Given the description of an element on the screen output the (x, y) to click on. 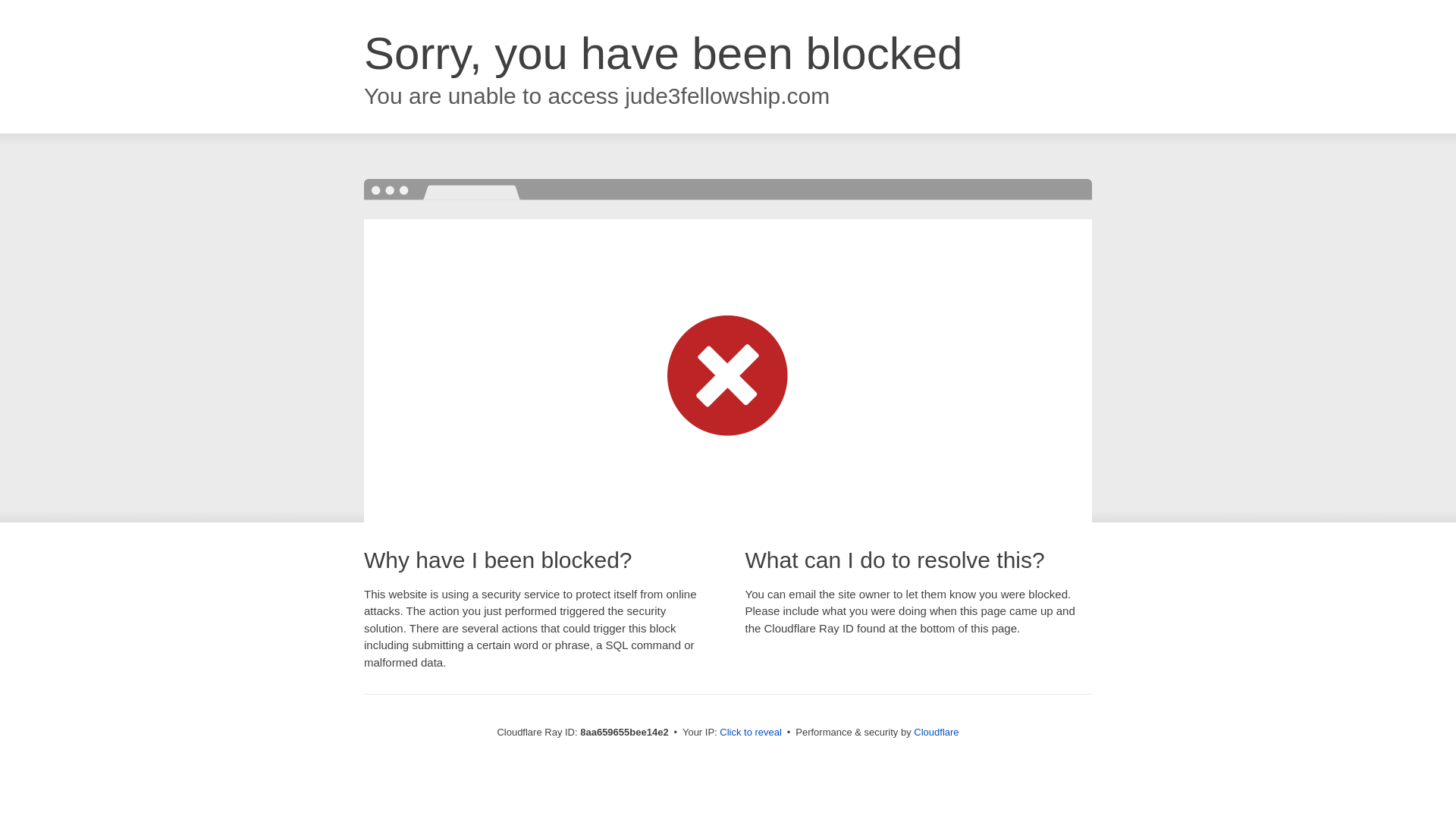
Click to reveal (750, 732)
Cloudflare (936, 731)
